Given the description of an element on the screen output the (x, y) to click on. 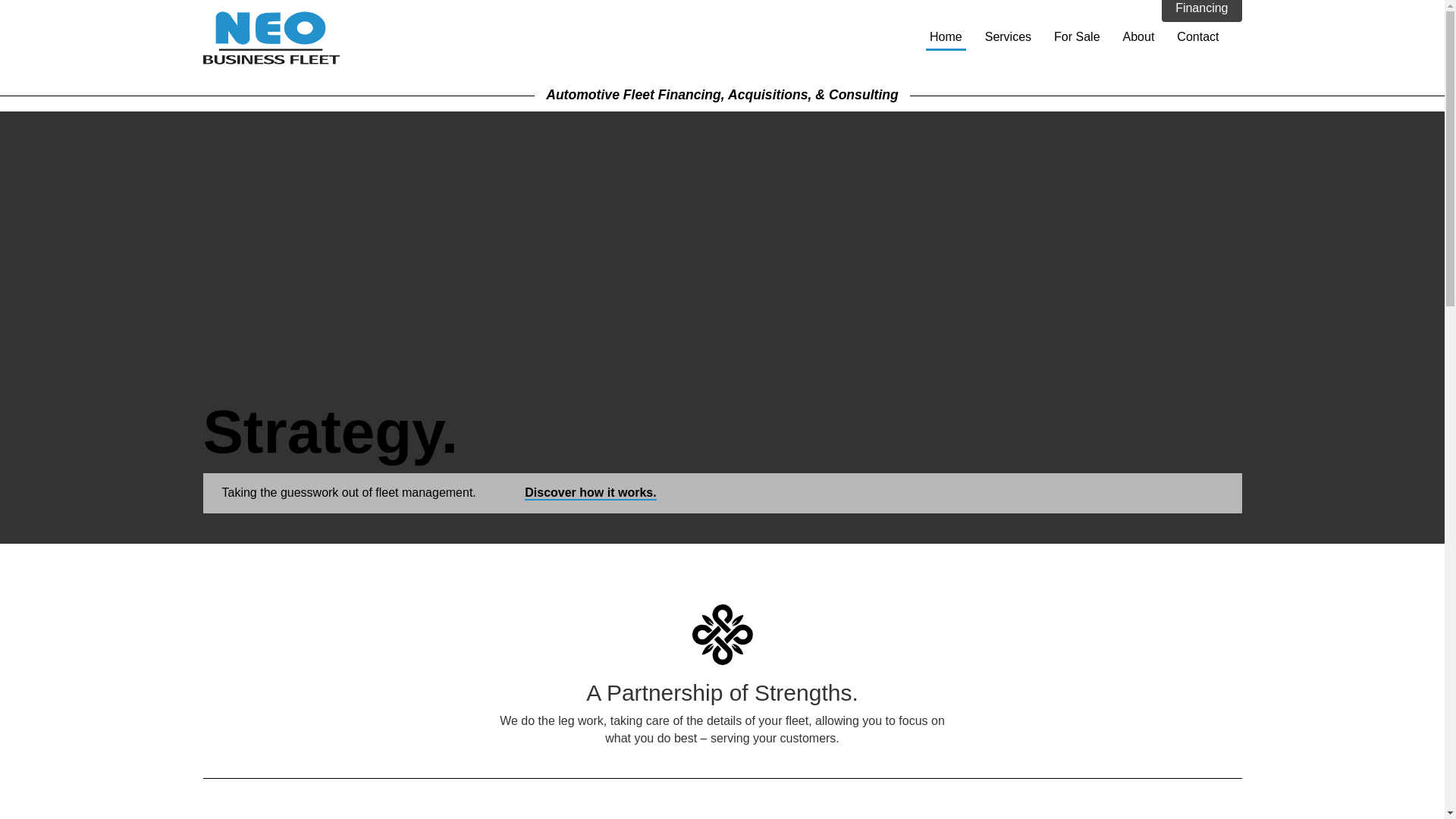
Discover how it works. (590, 493)
About (1138, 36)
Contact (1198, 36)
Vehicles for sale (1076, 36)
For Sale (1076, 36)
Financing (1201, 11)
Home (946, 37)
Services (1008, 36)
